Given the description of an element on the screen output the (x, y) to click on. 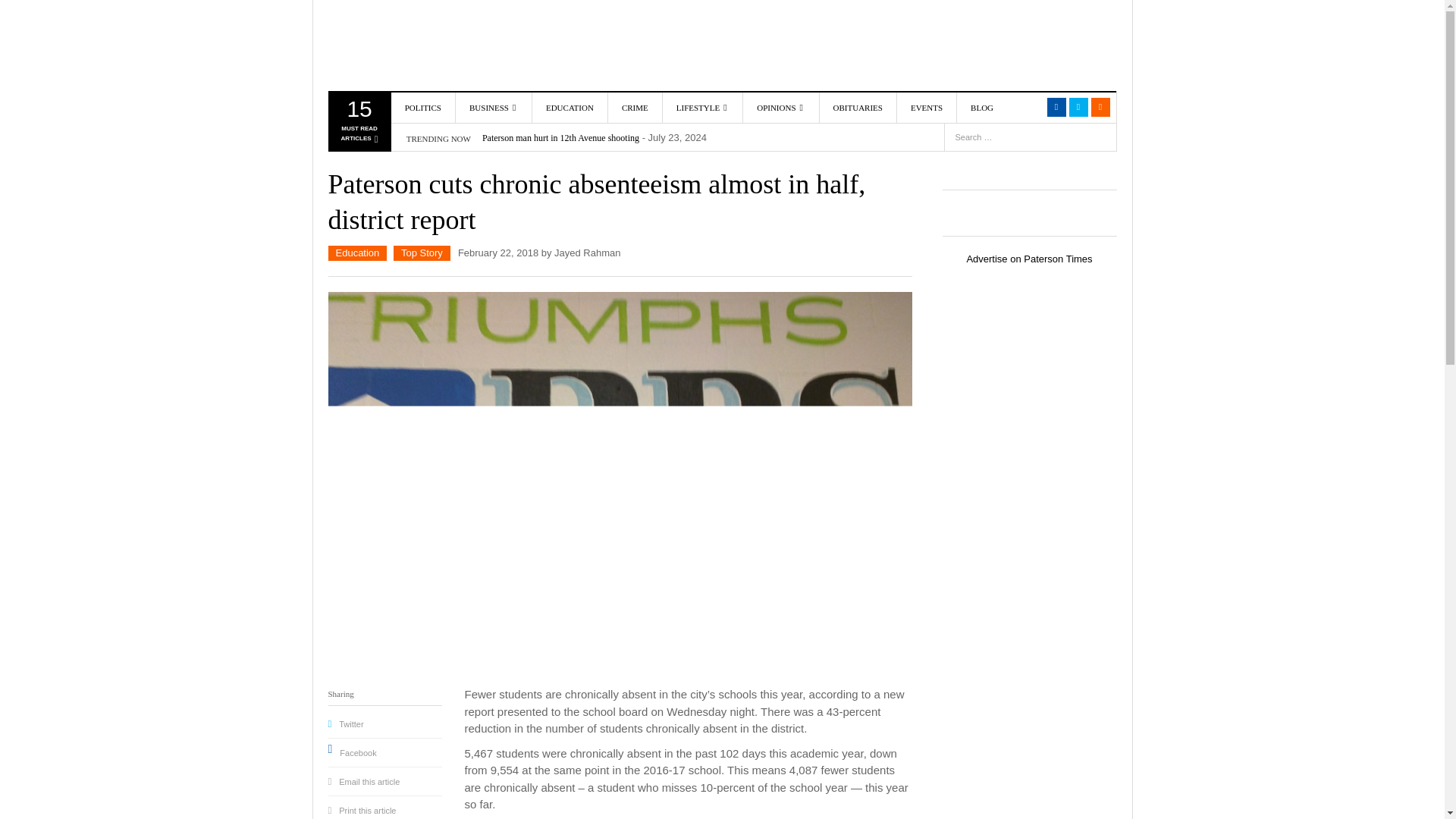
Paterson Times (414, 45)
Paterson Times (414, 45)
Search (1100, 139)
Search (1026, 108)
POLITICS (358, 124)
